Given the description of an element on the screen output the (x, y) to click on. 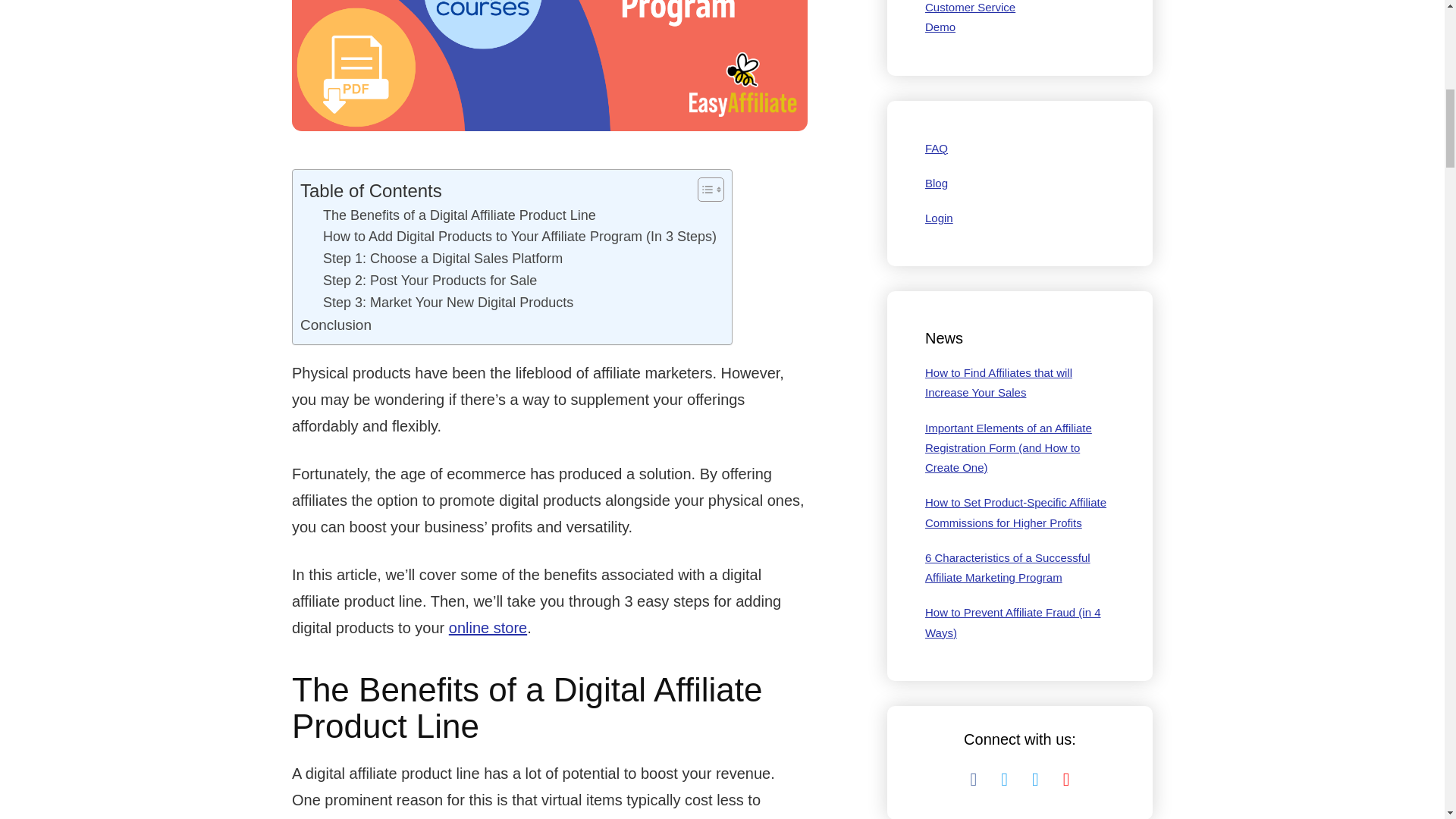
Step 1: Choose a Digital Sales Platform (442, 259)
online store (487, 627)
The Benefits of a Digital Affiliate Product Line (459, 215)
Step 2: Post Your Products for Sale (430, 280)
The Benefits of a Digital Affiliate Product Line (459, 215)
Step 2: Post Your Products for Sale (430, 280)
Step 1: Choose a Digital Sales Platform (442, 259)
Conclusion (335, 324)
Conclusion (335, 324)
Shopify Affiliate Link (487, 627)
Step 3: Market Your New Digital Products (448, 302)
Step 3: Market Your New Digital Products (448, 302)
